Given the description of an element on the screen output the (x, y) to click on. 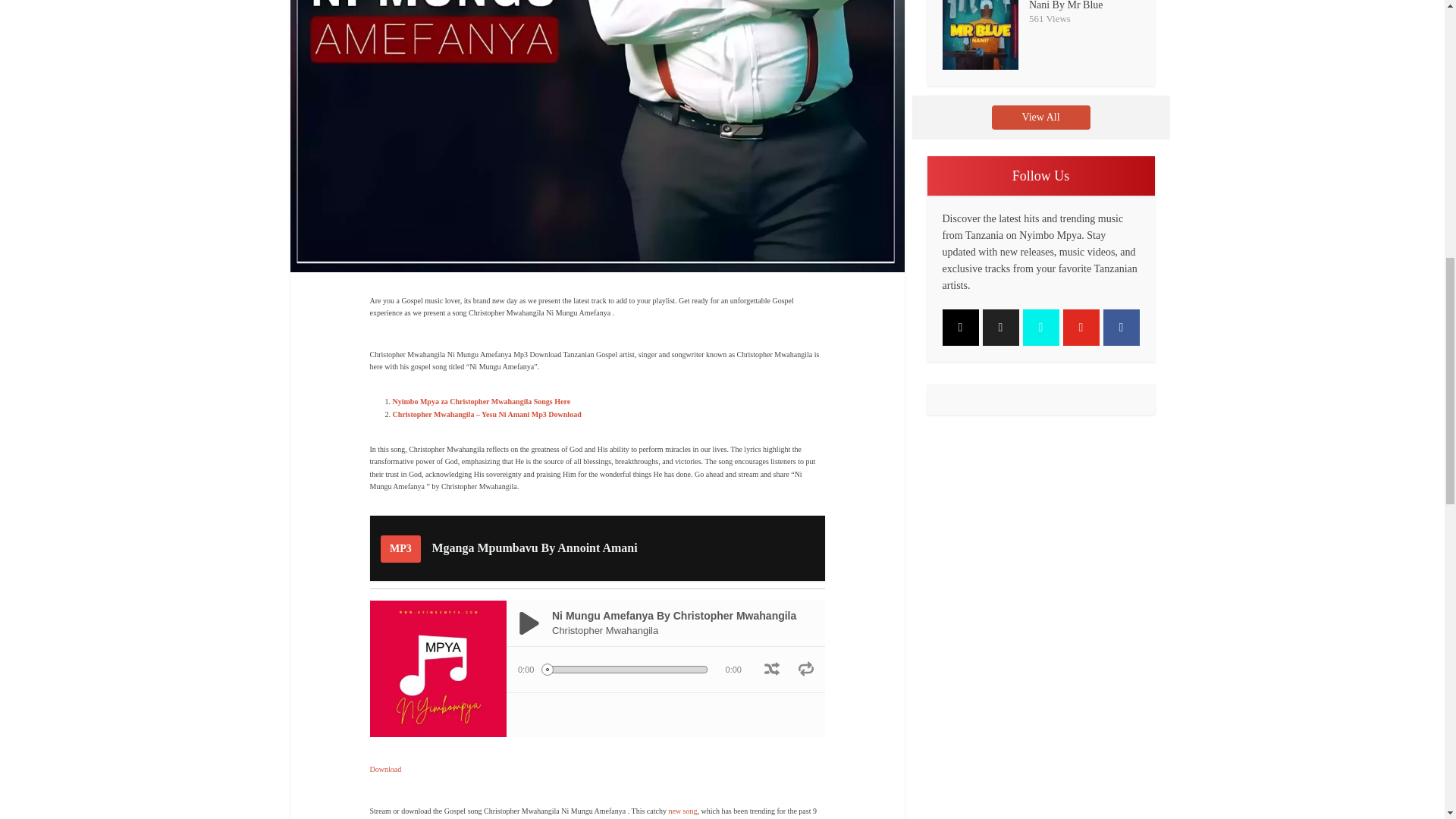
Nyimbo Mpya za Christopher Mwahangila Songs Here (481, 401)
new song (682, 810)
Download (385, 768)
